Given the description of an element on the screen output the (x, y) to click on. 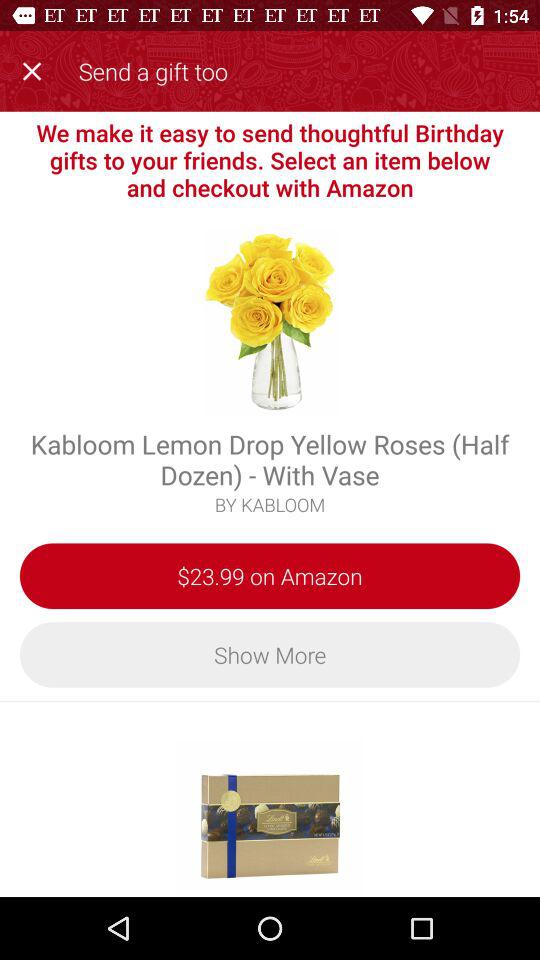
flip to the show more icon (269, 654)
